Given the description of an element on the screen output the (x, y) to click on. 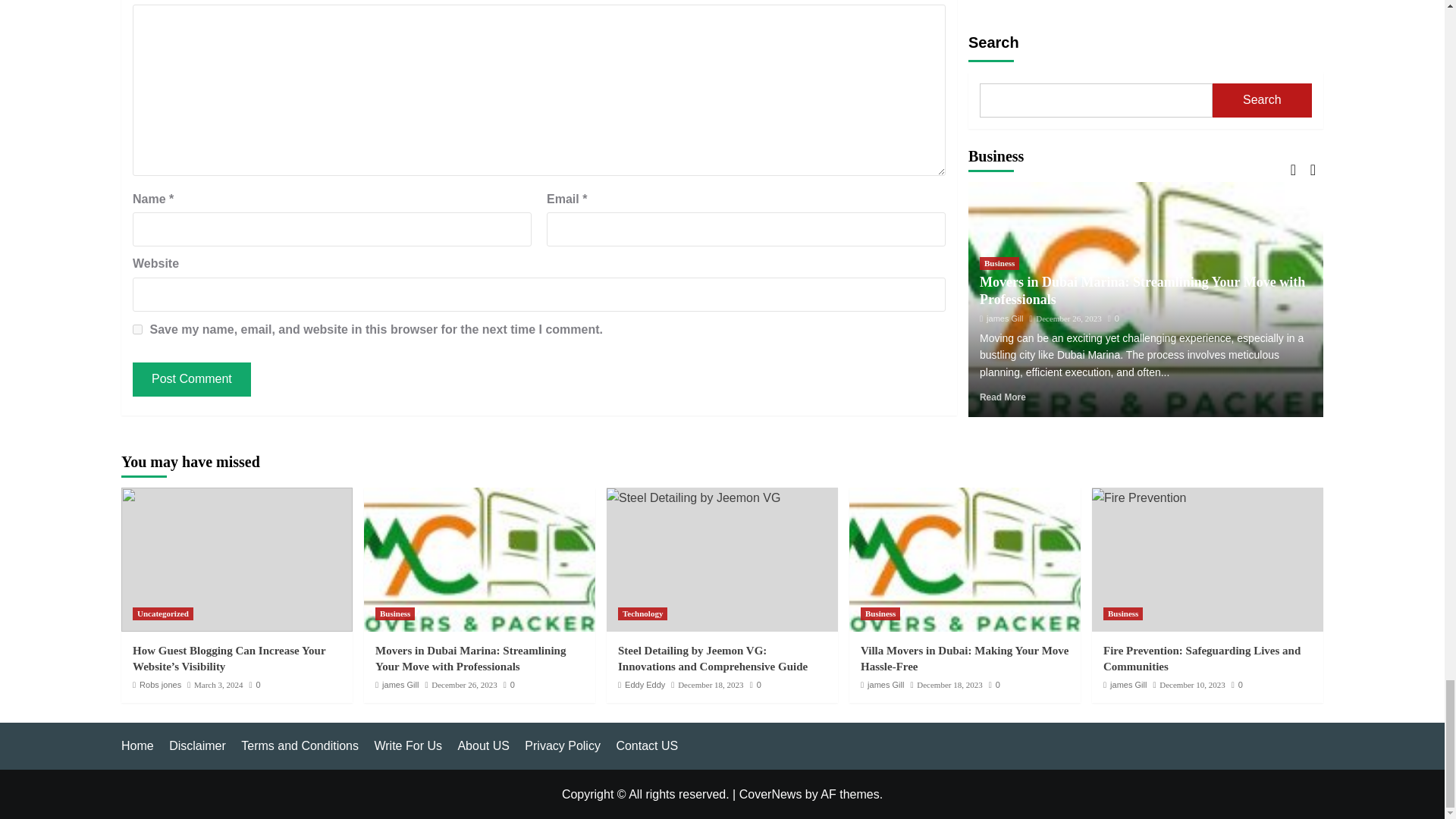
yes (137, 329)
Post Comment (191, 379)
